Given the description of an element on the screen output the (x, y) to click on. 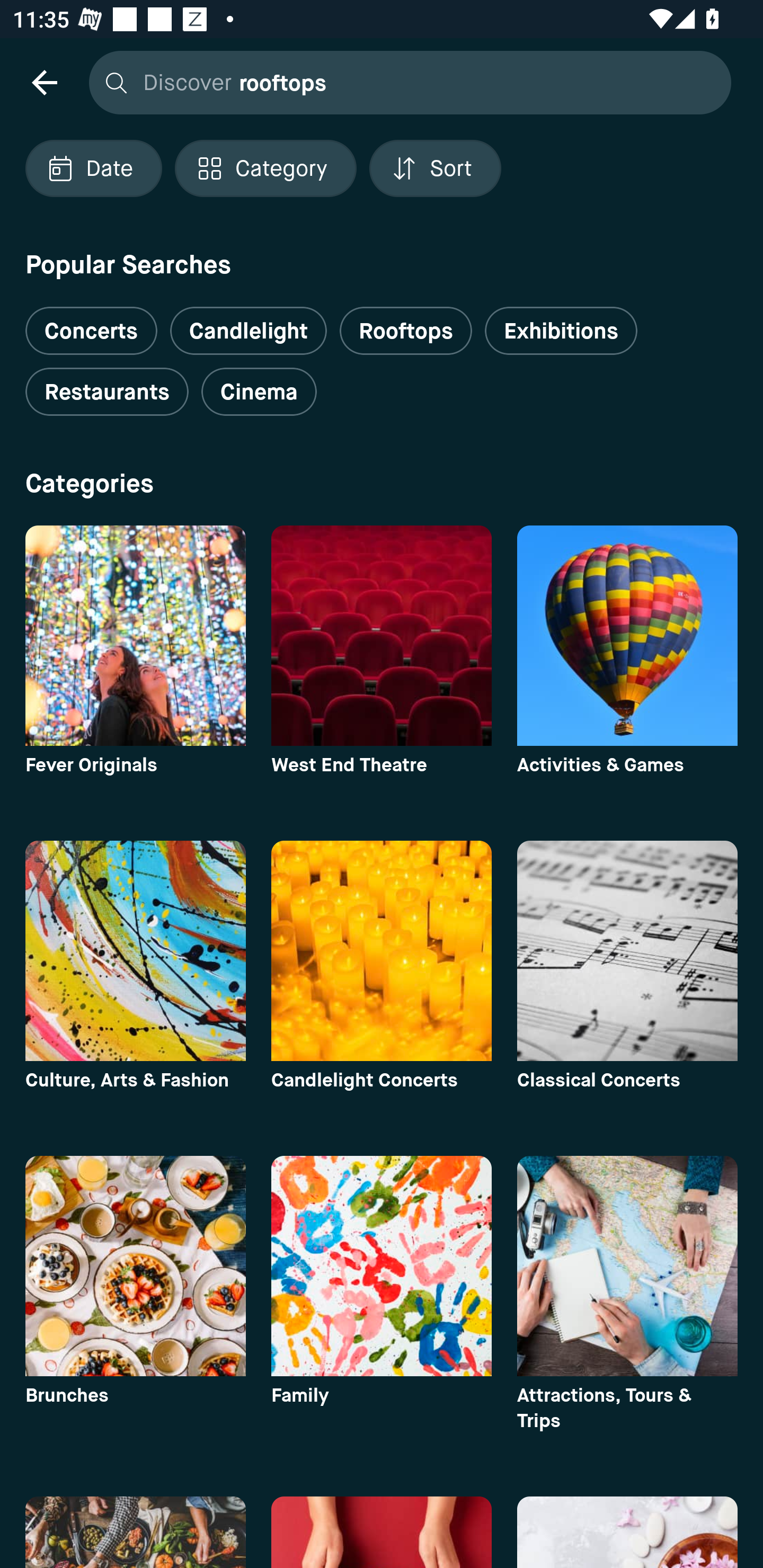
navigation icon (44, 81)
Discover rooftops (405, 81)
Localized description Date (93, 168)
Localized description Category (265, 168)
Localized description Sort (435, 168)
Concerts (91, 323)
Candlelight (248, 330)
Rooftops (405, 330)
Exhibitions (560, 330)
Restaurants (106, 391)
Cinema (258, 391)
category image (135, 635)
category image (381, 635)
category image (627, 635)
category image (135, 950)
category image (381, 950)
category image (627, 950)
category image (135, 1265)
category image (381, 1265)
category image (627, 1265)
